Given the description of an element on the screen output the (x, y) to click on. 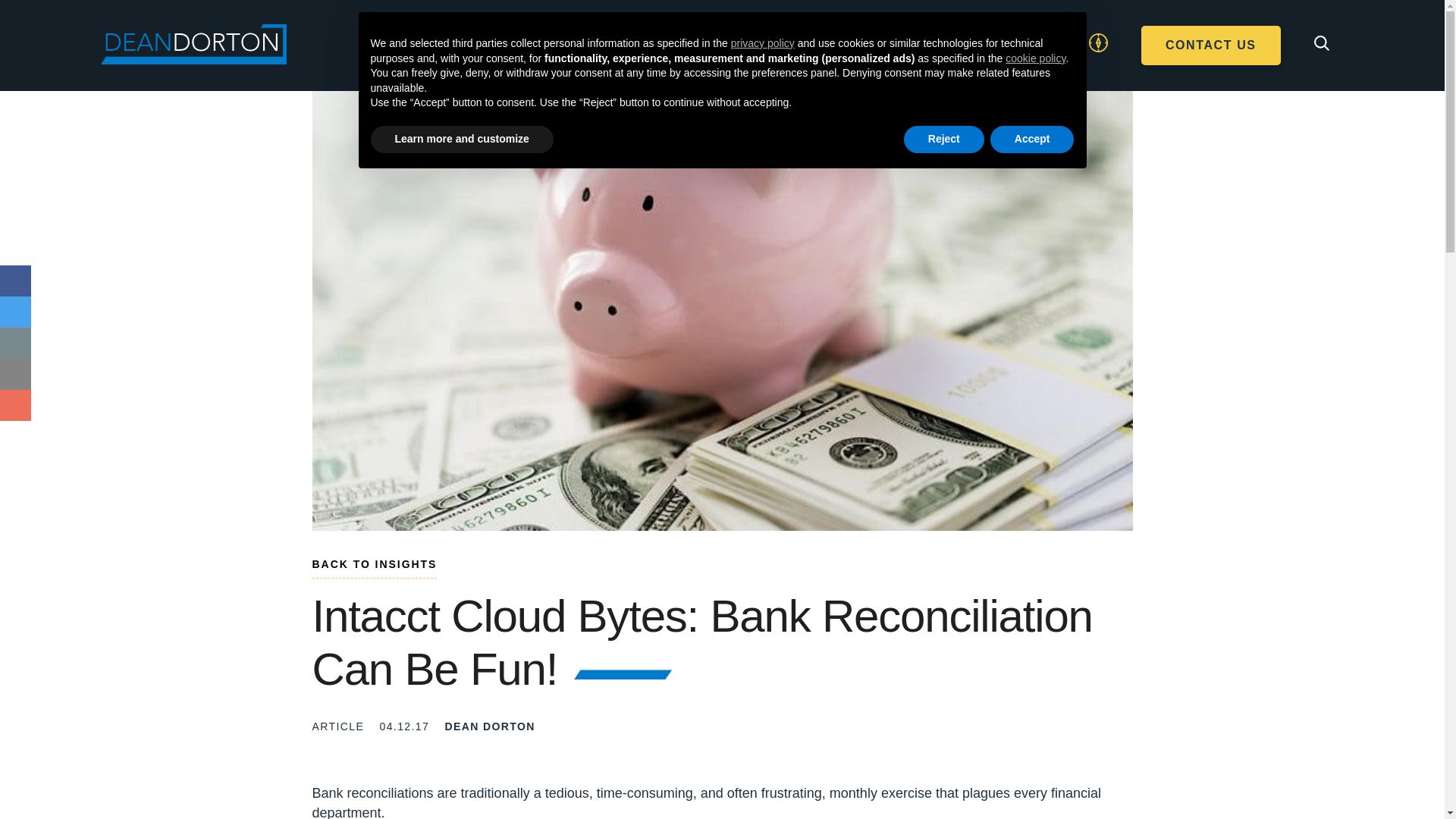
Go to Insights. (375, 567)
SERVICES (608, 57)
